Given the description of an element on the screen output the (x, y) to click on. 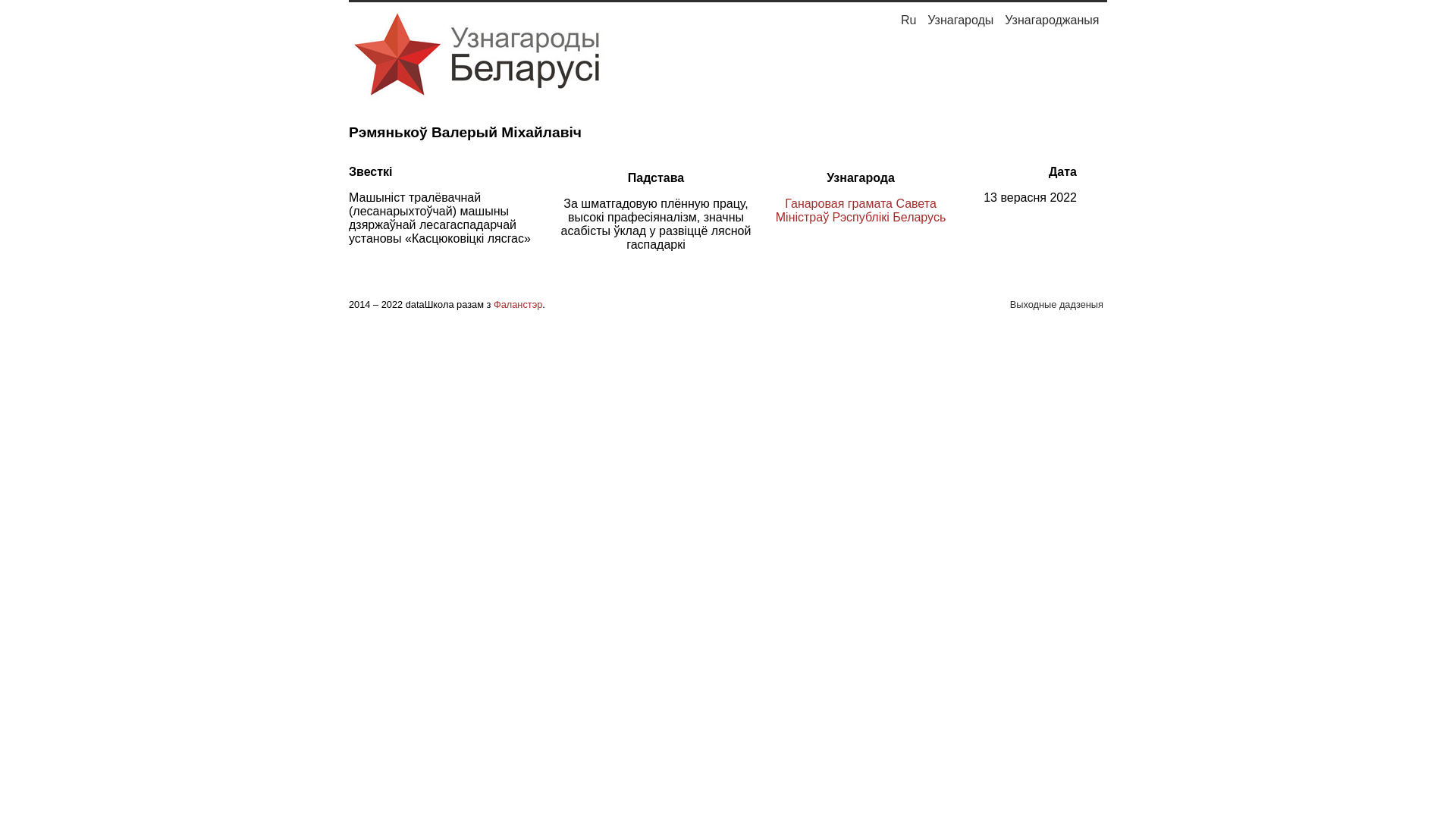
Ru Element type: text (908, 20)
